Given the description of an element on the screen output the (x, y) to click on. 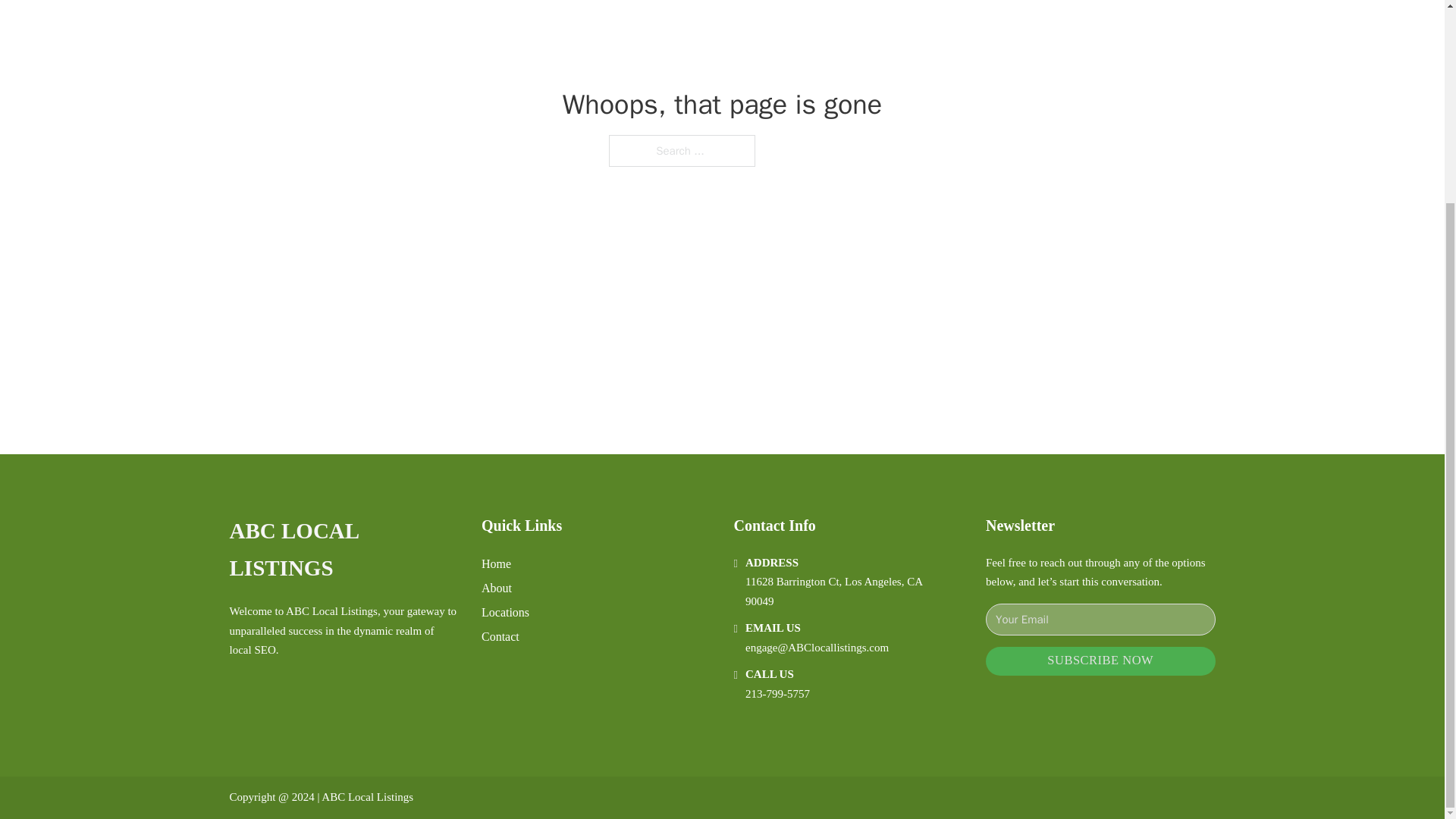
Contact (500, 636)
ABC LOCAL LISTINGS (343, 550)
Locations (505, 611)
About (496, 588)
213-799-5757 (777, 693)
Home (496, 563)
SUBSCRIBE NOW (1100, 661)
